Given the description of an element on the screen output the (x, y) to click on. 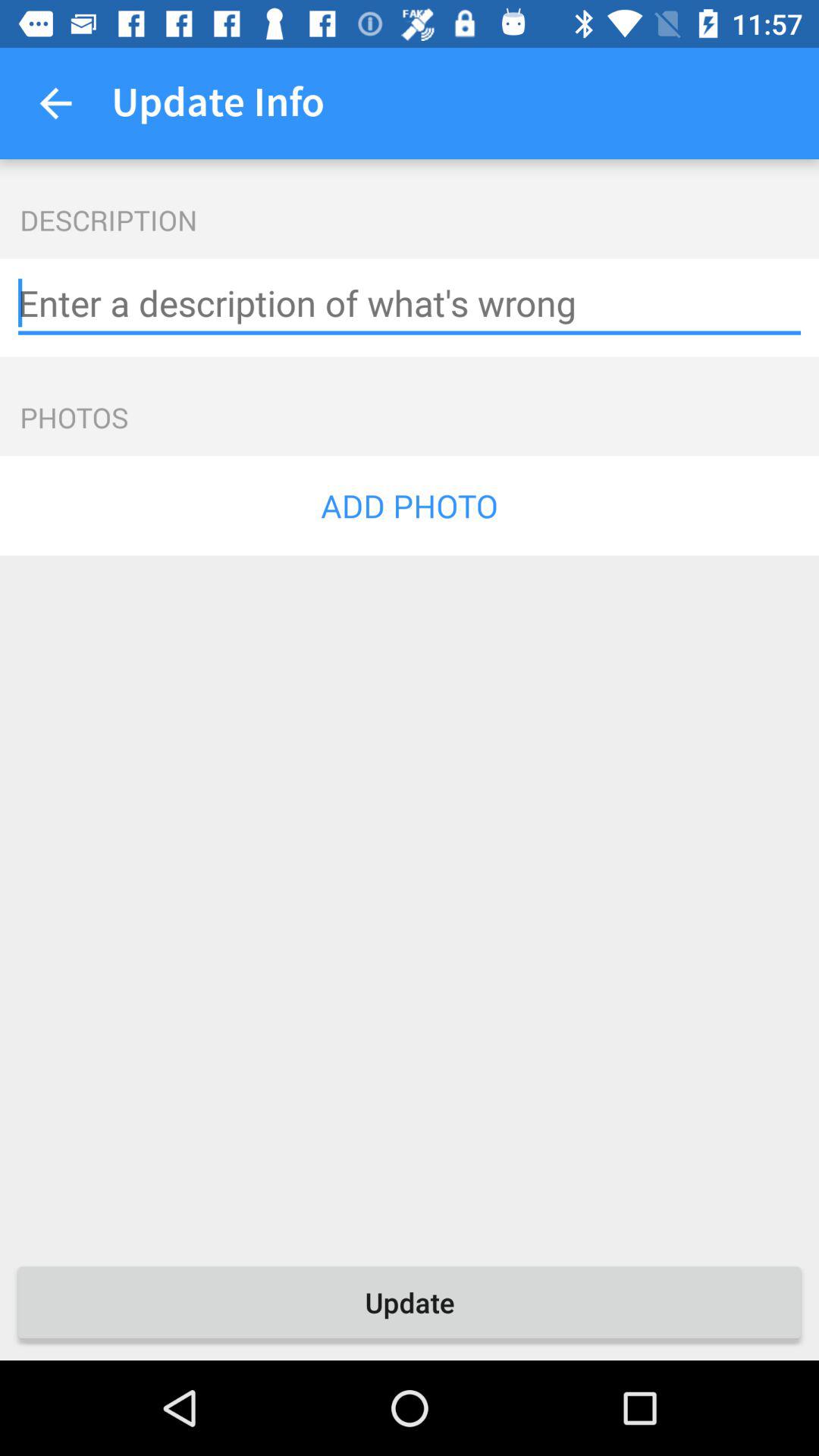
tap the item below photos icon (409, 505)
